Given the description of an element on the screen output the (x, y) to click on. 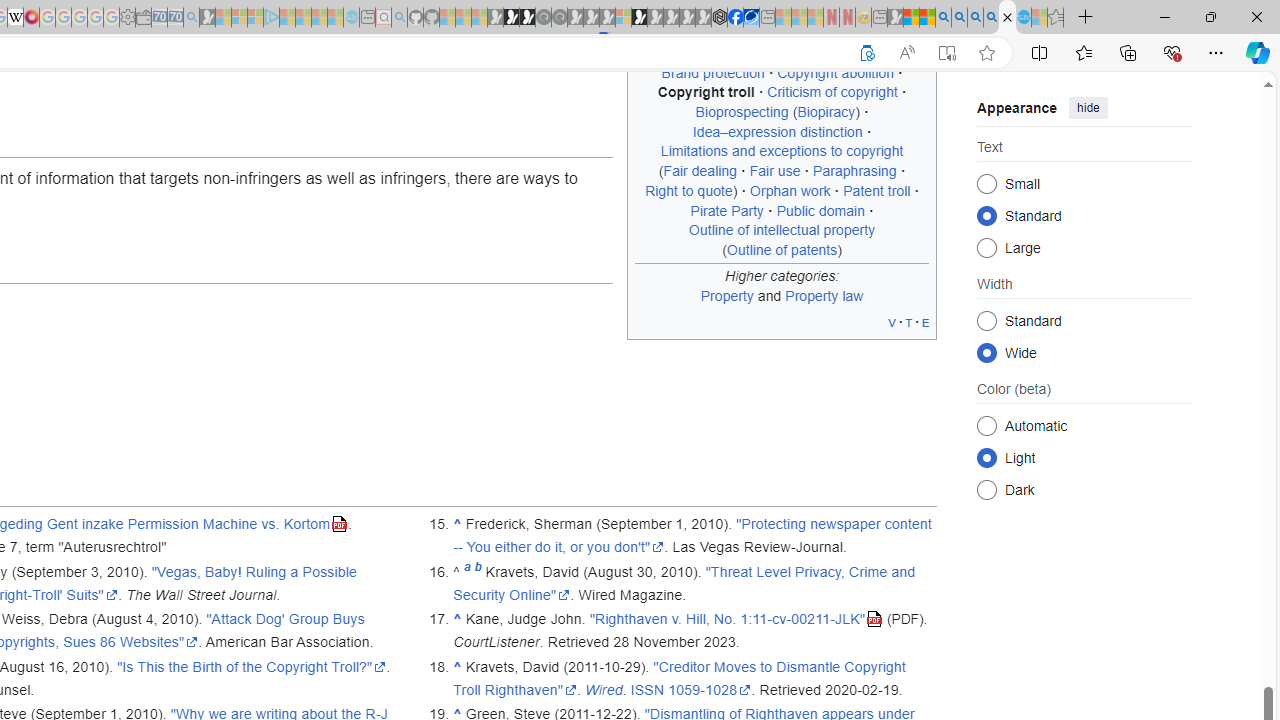
Bing AI - Search (943, 17)
Outline of intellectual property (781, 230)
Public domain (820, 210)
Services - Maintenance | Sky Blue Bikes - Sky Blue Bikes (1023, 17)
Outline of intellectual property (Outline of patents) (781, 239)
Right to quote (689, 190)
Paraphrasing (854, 171)
